Given the description of an element on the screen output the (x, y) to click on. 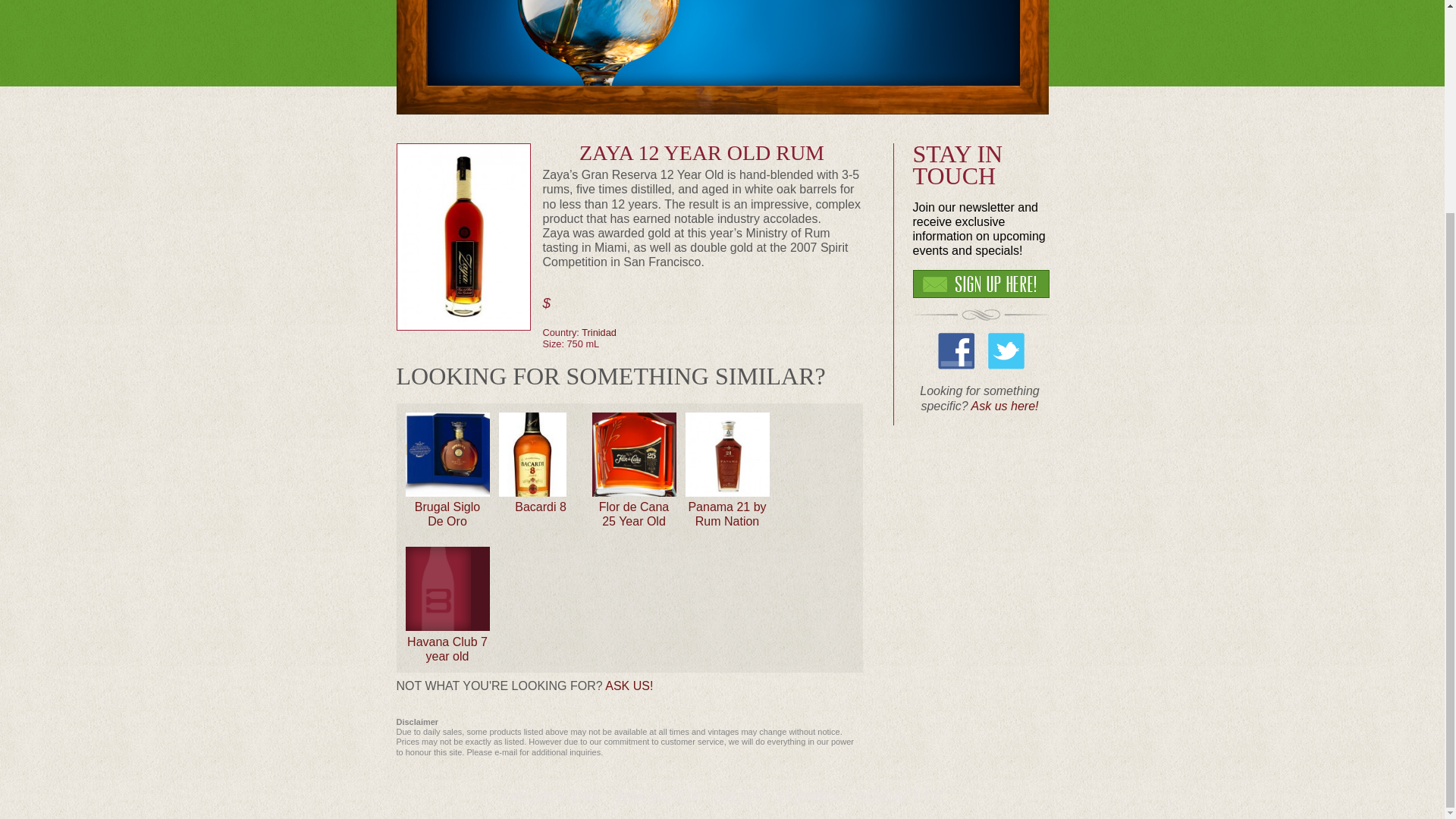
TASTINGS (808, 797)
POW SIGNUP (656, 797)
Online Store (551, 797)
ABOUT (737, 797)
CONTACT US (898, 797)
Newsletter (656, 797)
ONLINE STORE (551, 797)
Bacardi 8 (540, 506)
Havana Club 7 year old (447, 648)
ASK US! (628, 685)
Flor de Cana 25 Year Old (633, 513)
Panama 21 by Rum Nation (726, 513)
Ask us here! (1005, 405)
Trinidad (597, 332)
Brugal Siglo De Oro (447, 513)
